Given the description of an element on the screen output the (x, y) to click on. 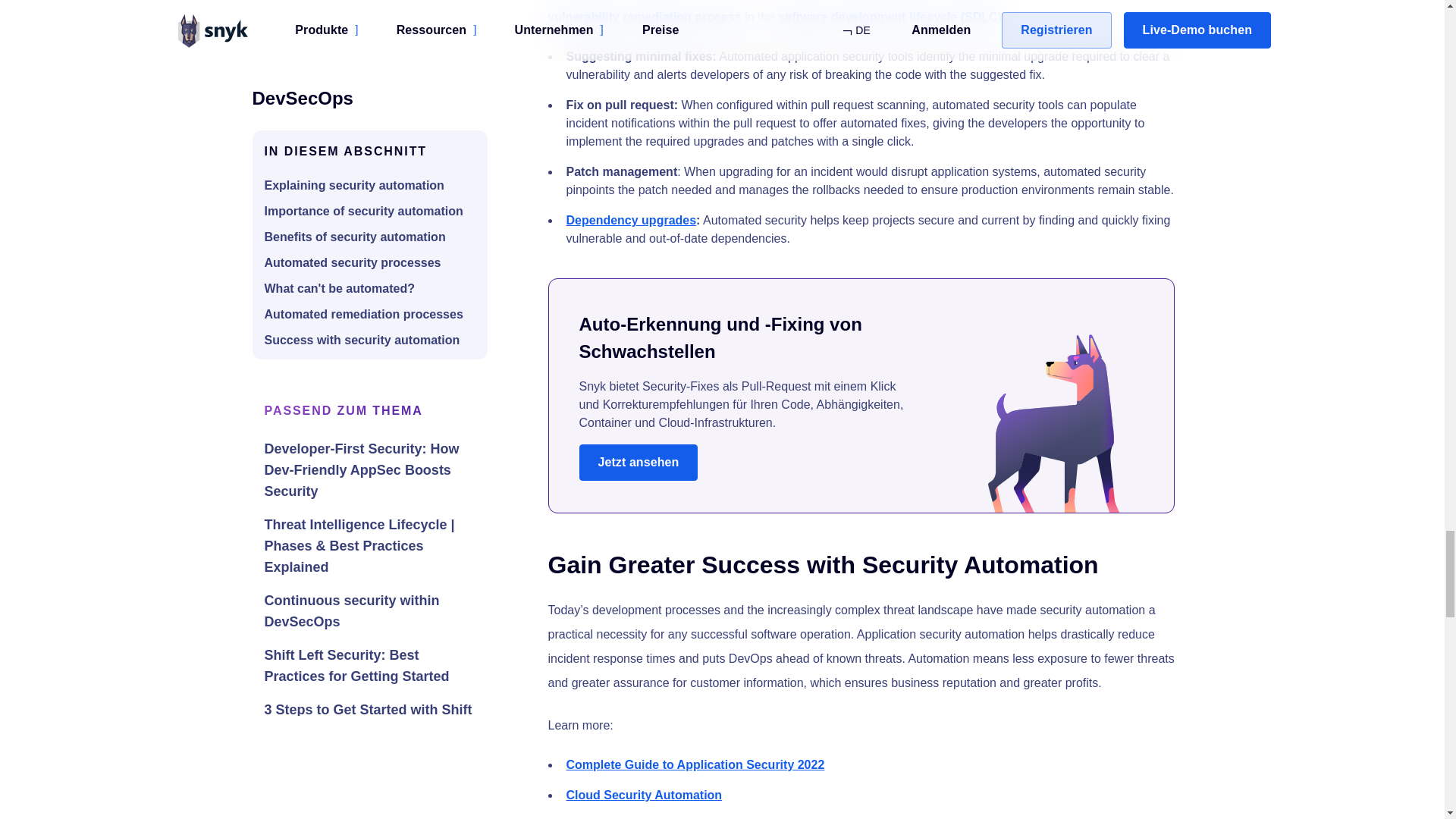
Jetzt ansehen (638, 462)
